Given the description of an element on the screen output the (x, y) to click on. 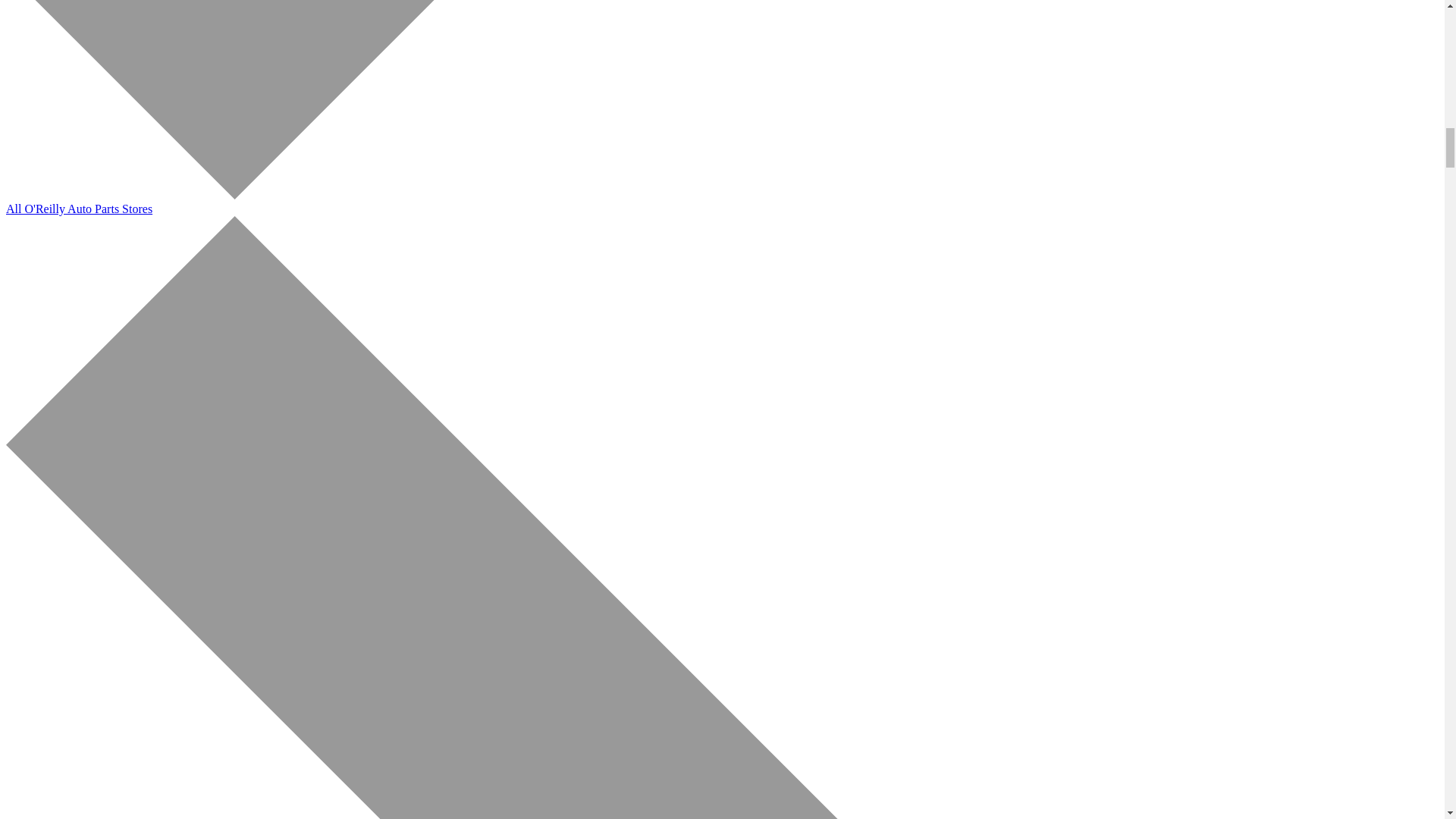
All O'Reilly Auto Parts Stores (78, 208)
